Given the description of an element on the screen output the (x, y) to click on. 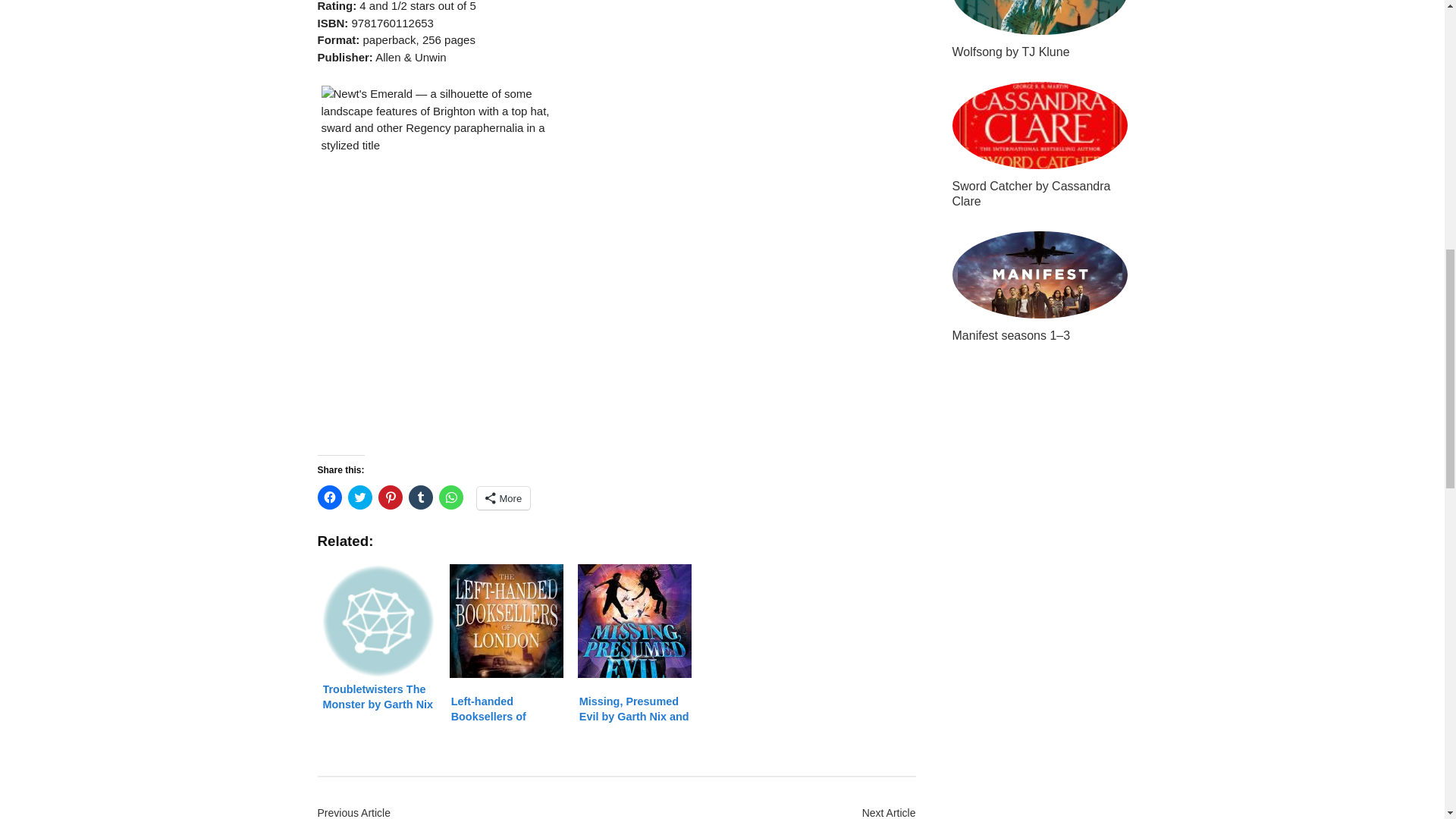
Click to share on Tumblr (419, 497)
Click to share on WhatsApp (450, 497)
Click to share on Facebook (328, 497)
Click to share on Twitter (359, 497)
Click to share on Pinterest (389, 497)
